Given the description of an element on the screen output the (x, y) to click on. 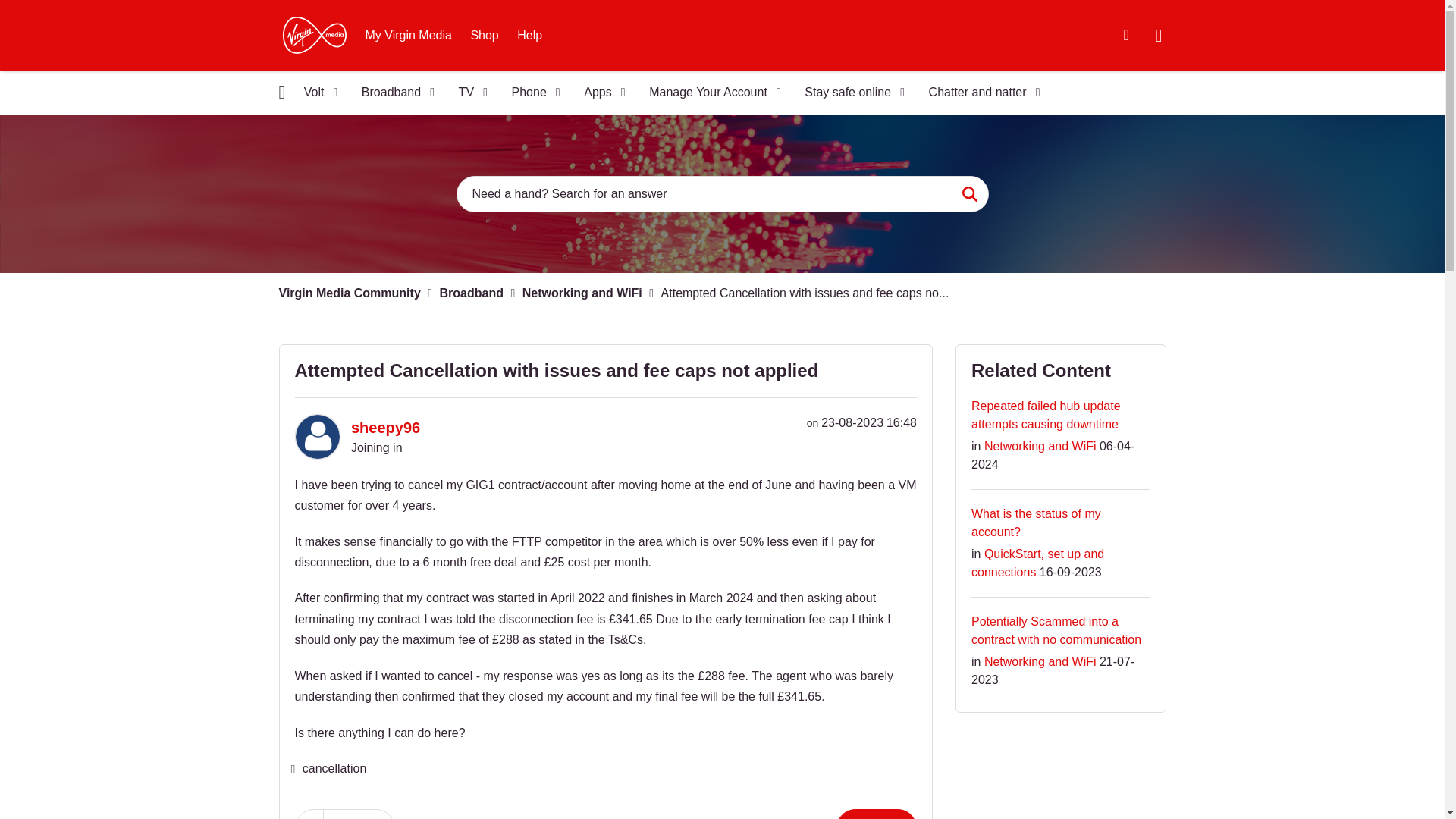
Click here to give kudos to this post. (309, 814)
Shop (484, 34)
My Virgin Media (409, 34)
Stay safe online (849, 92)
Search (722, 194)
The total number of kudos this post has received. (358, 814)
Volt (315, 92)
Search (969, 193)
Help (529, 34)
TV (468, 92)
Virgin Media (314, 35)
sheepy96 (316, 436)
Manage Your Account (709, 92)
Search (969, 193)
Broadband (392, 92)
